Given the description of an element on the screen output the (x, y) to click on. 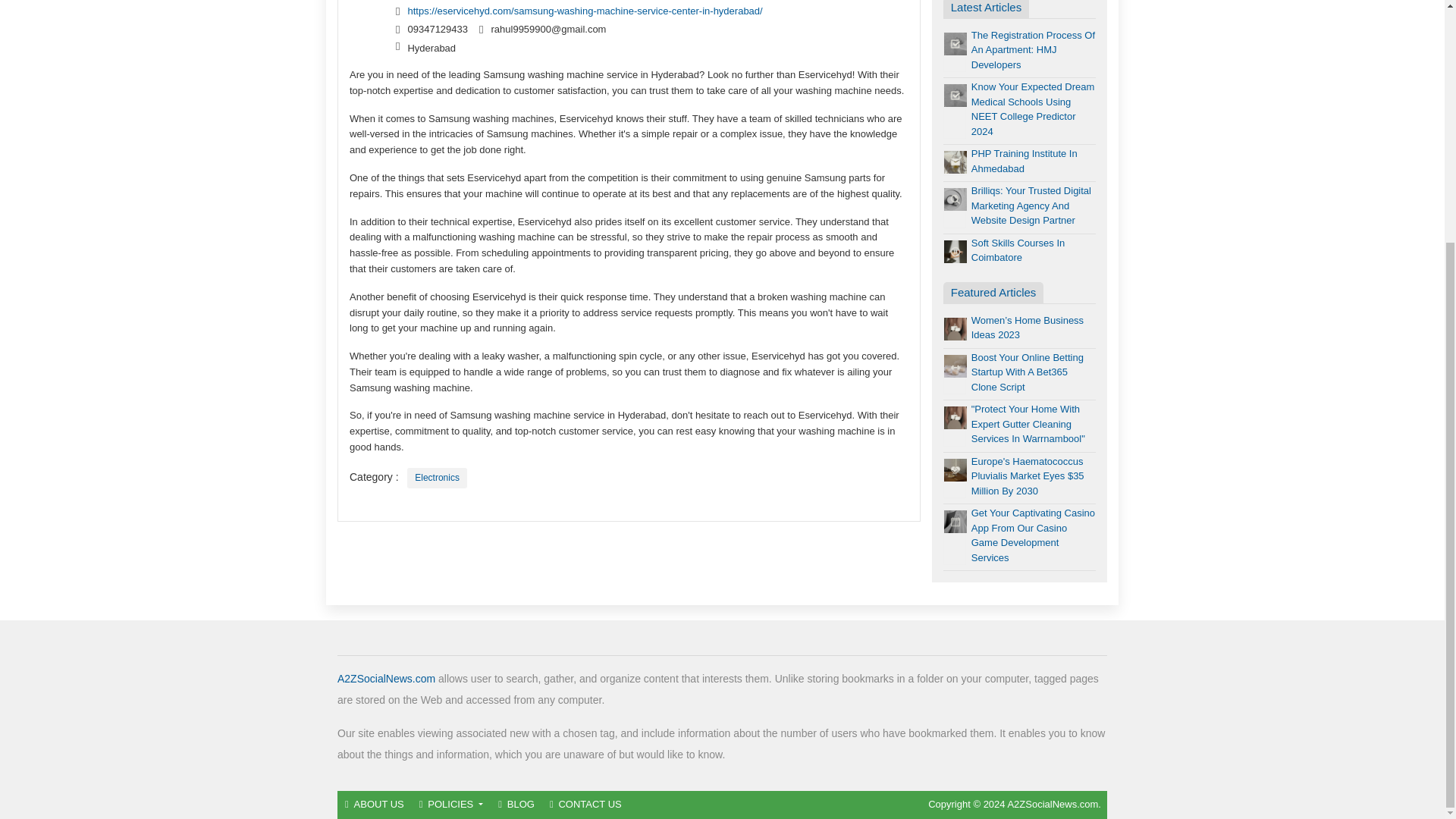
Electronics (437, 477)
Electronics (437, 477)
The Registration Process Of An Apartment: HMJ Developers (1032, 49)
